Given the description of an element on the screen output the (x, y) to click on. 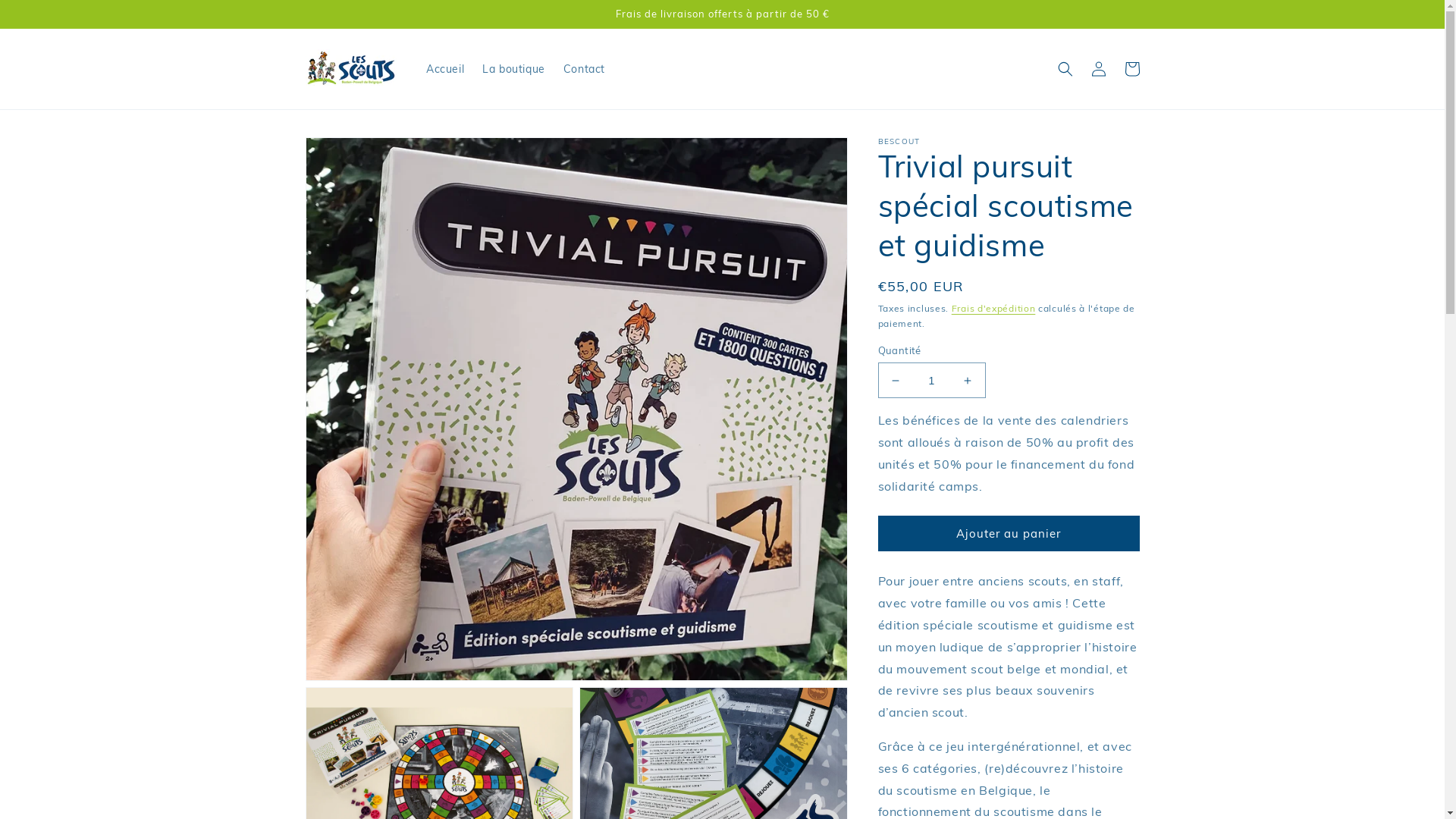
Connexion Element type: text (1097, 68)
Contact Element type: text (584, 68)
La boutique Element type: text (513, 68)
Panier Element type: text (1131, 68)
Passer aux informations produits Element type: text (350, 154)
Accueil Element type: text (445, 68)
Ajouter au panier Element type: text (1008, 533)
